Given the description of an element on the screen output the (x, y) to click on. 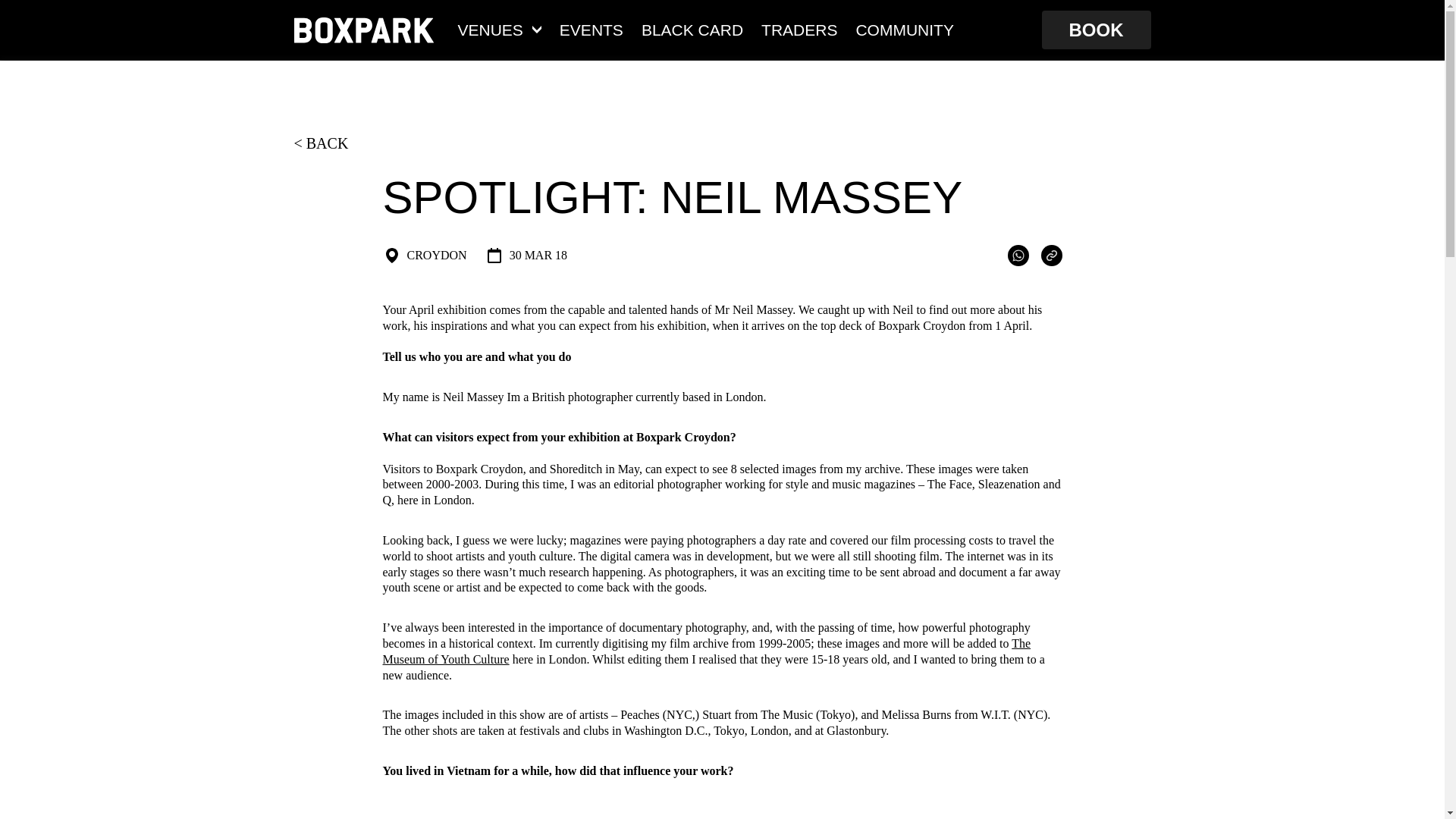
VENUES (499, 29)
EVENTS (591, 29)
Page 1 (721, 771)
BOOK (1096, 29)
BLACK CARD (692, 29)
TRADERS (799, 29)
COMMUNITY (904, 29)
Page 1 (721, 811)
